Given the description of an element on the screen output the (x, y) to click on. 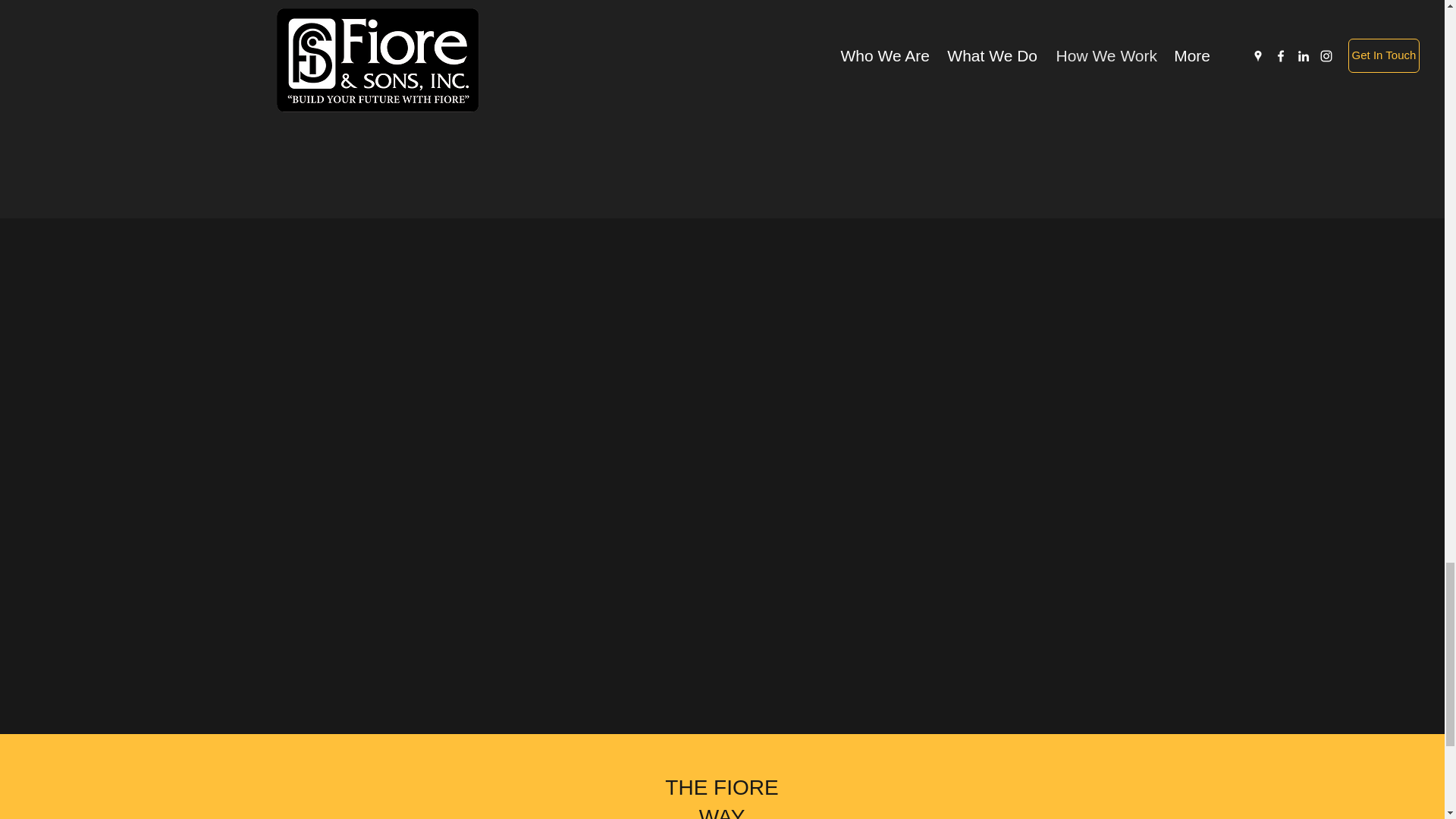
THE FIORE WAY (721, 797)
